Given the description of an element on the screen output the (x, y) to click on. 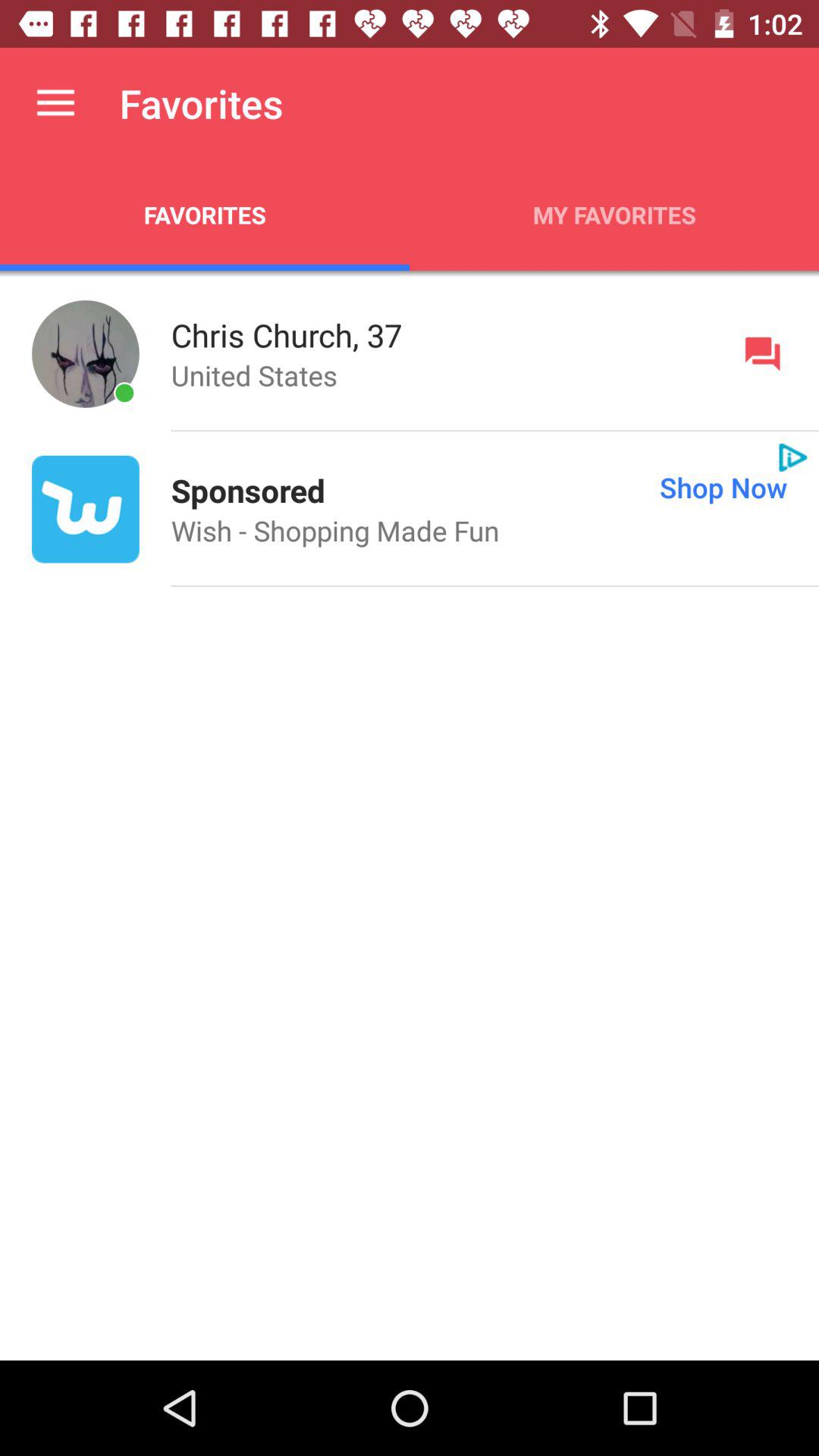
select sponsored (248, 489)
